Given the description of an element on the screen output the (x, y) to click on. 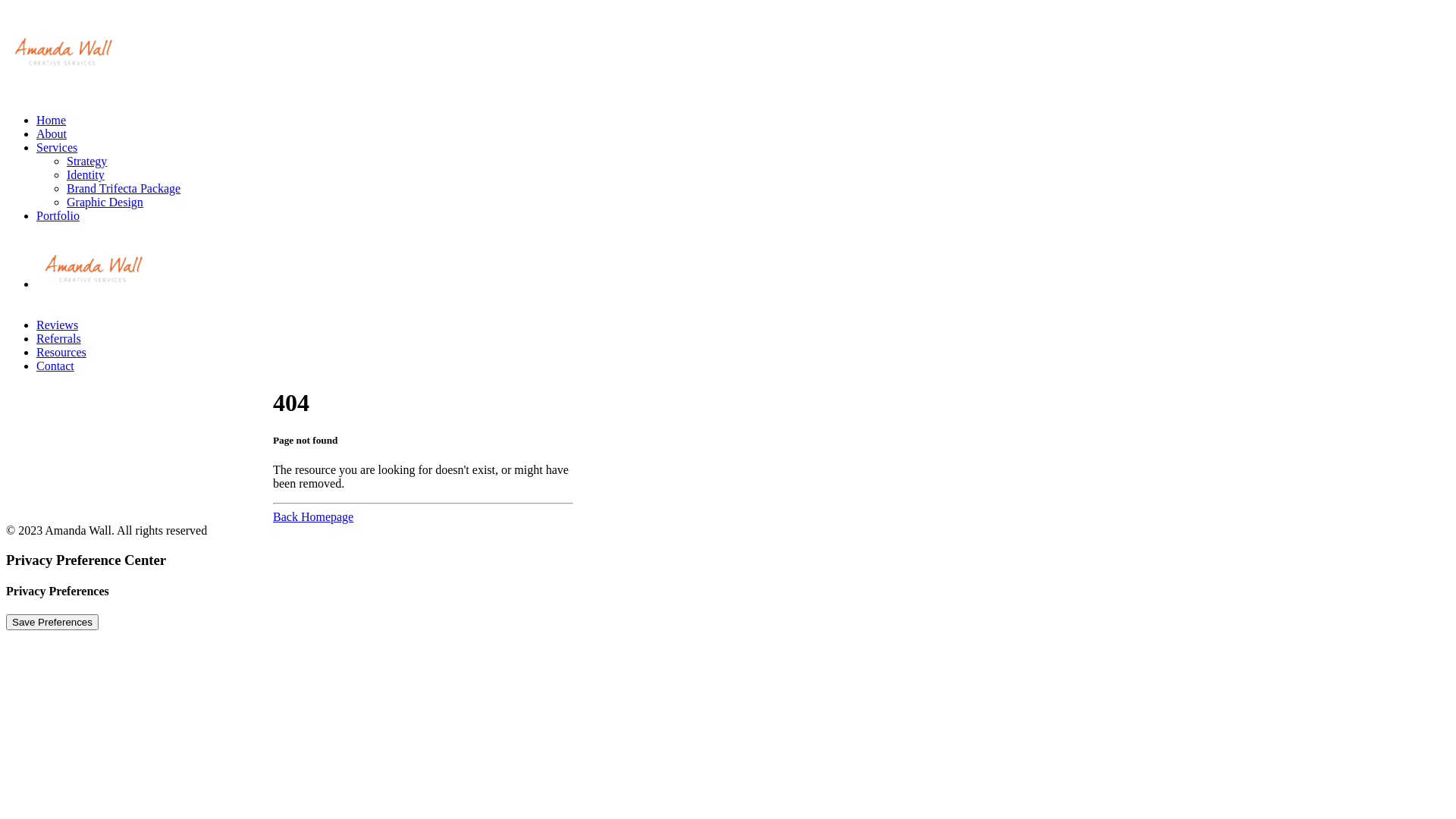
About Element type: text (51, 133)
Reviews Element type: text (57, 324)
Save Preferences Element type: text (52, 622)
Referrals Element type: text (58, 338)
Portfolio Element type: text (57, 215)
Brand Trifecta Package Element type: text (123, 188)
Back Homepage Element type: text (313, 516)
Contact Element type: text (55, 365)
Graphic Design Element type: text (104, 201)
Strategy Element type: text (86, 160)
Identity Element type: text (85, 174)
Resources Element type: text (61, 351)
Home Element type: text (50, 119)
Services Element type: text (56, 147)
